Given the description of an element on the screen output the (x, y) to click on. 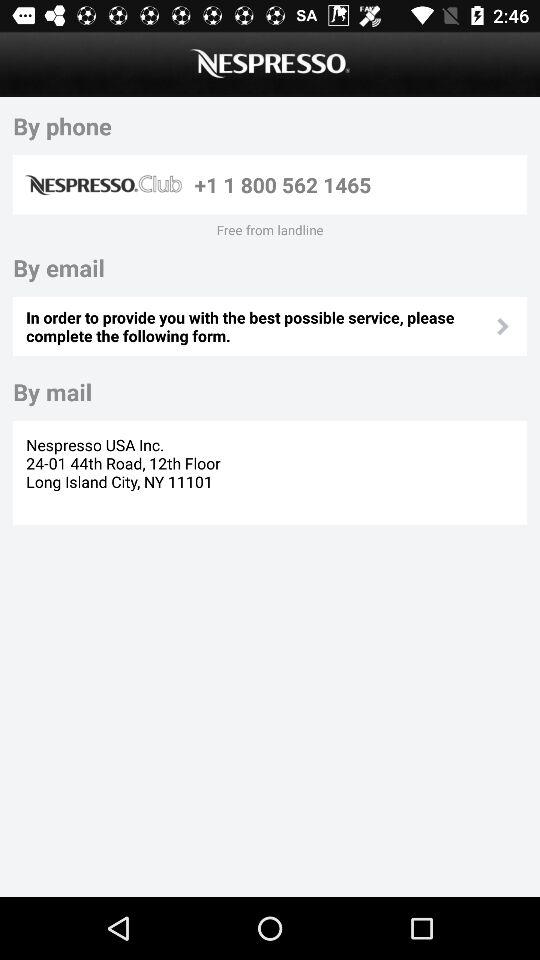
tap the in order to icon (259, 326)
